Given the description of an element on the screen output the (x, y) to click on. 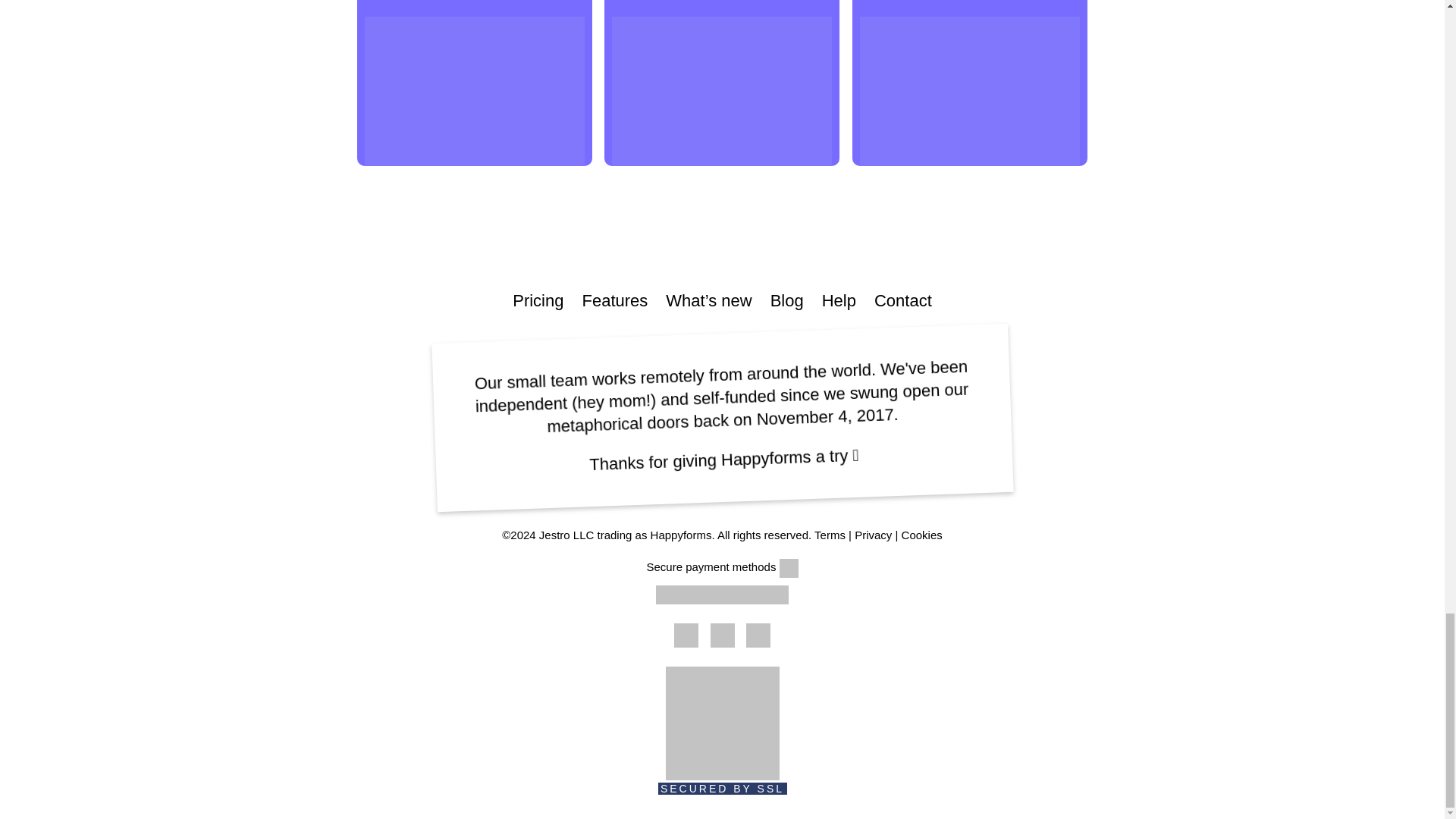
Contact Tracing Form (474, 83)
Pricing (537, 300)
Features (613, 300)
Help (839, 300)
Blog (786, 300)
Privacy (872, 534)
Terms (829, 534)
Feedback Form (969, 83)
Contact (903, 300)
Cookies (921, 534)
